Given the description of an element on the screen output the (x, y) to click on. 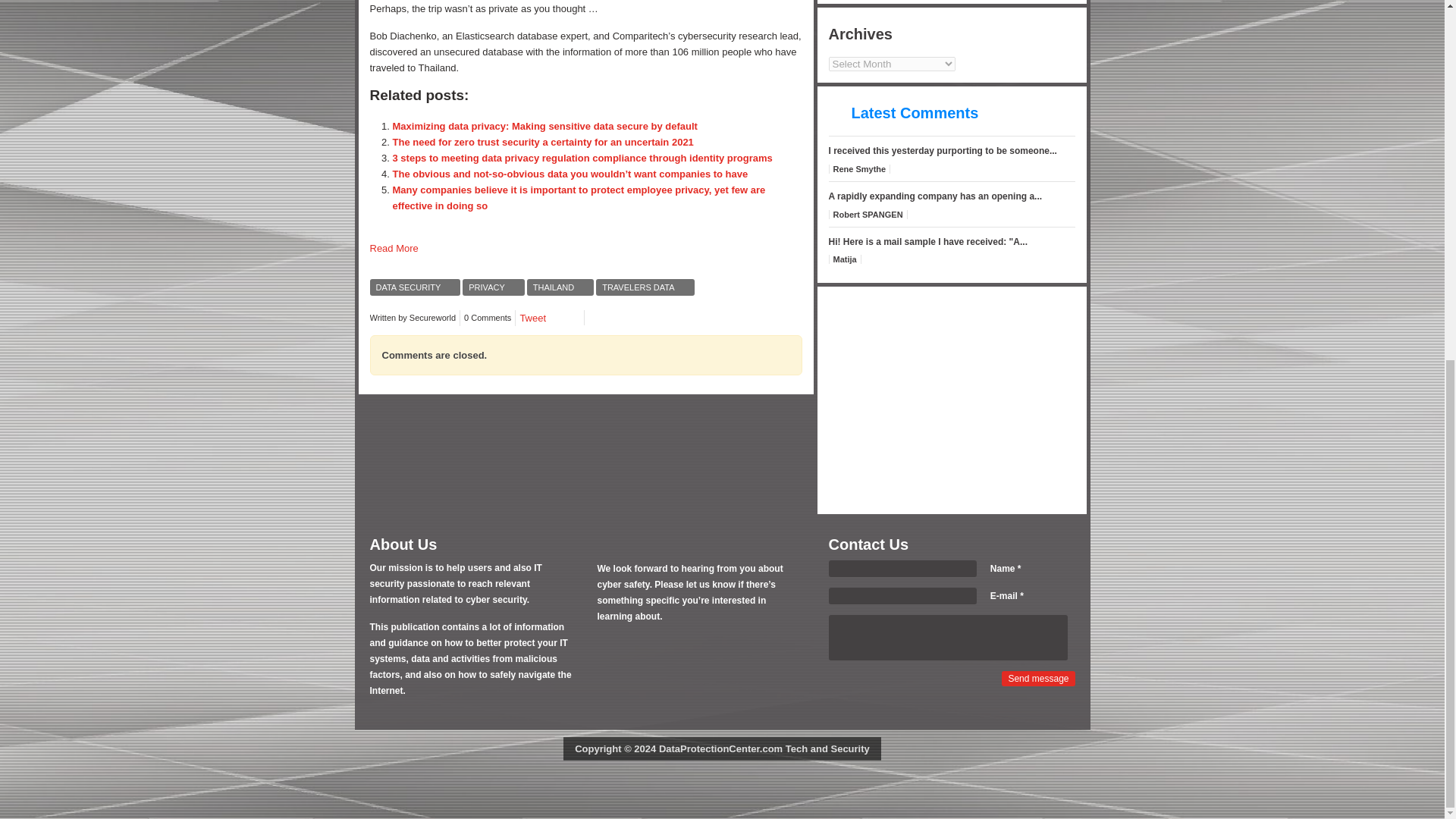
Tweet (532, 317)
Read More (394, 247)
TRAVELERS DATA (644, 287)
THAILAND (560, 287)
